Given the description of an element on the screen output the (x, y) to click on. 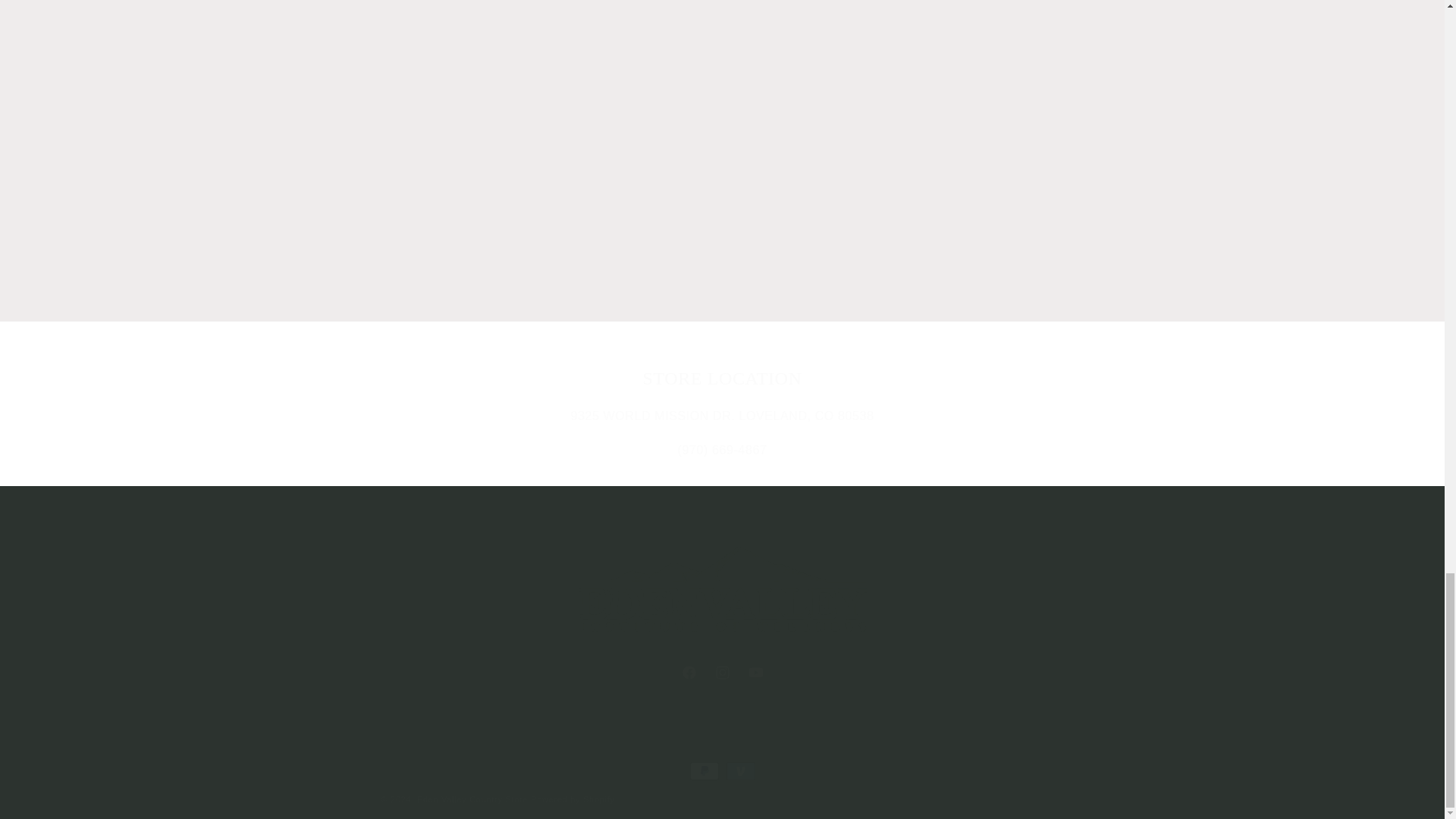
STORE LOCATION (721, 672)
